Given the description of an element on the screen output the (x, y) to click on. 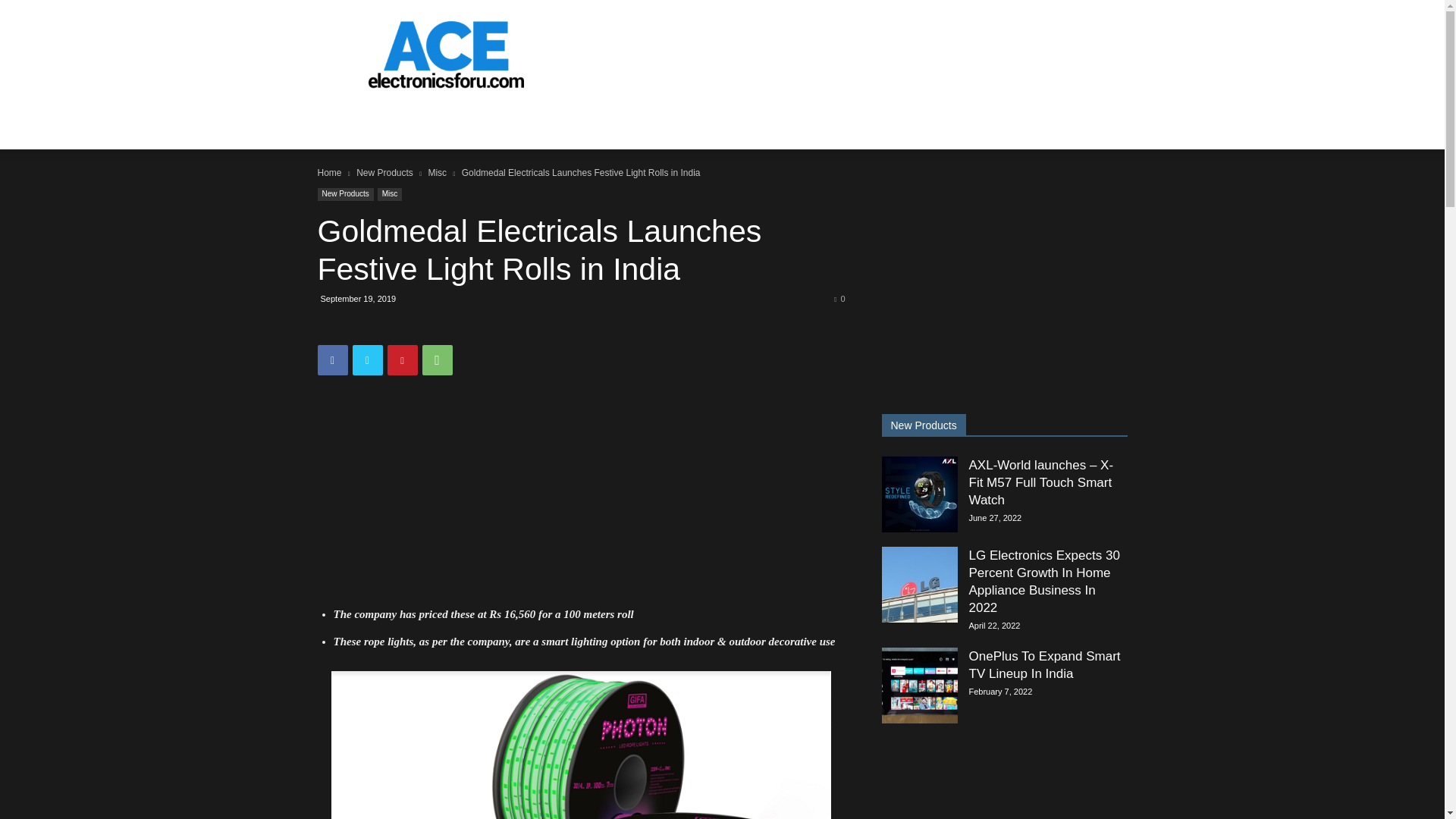
CHANNEL (360, 122)
3rd party ad content (850, 55)
